Given the description of an element on the screen output the (x, y) to click on. 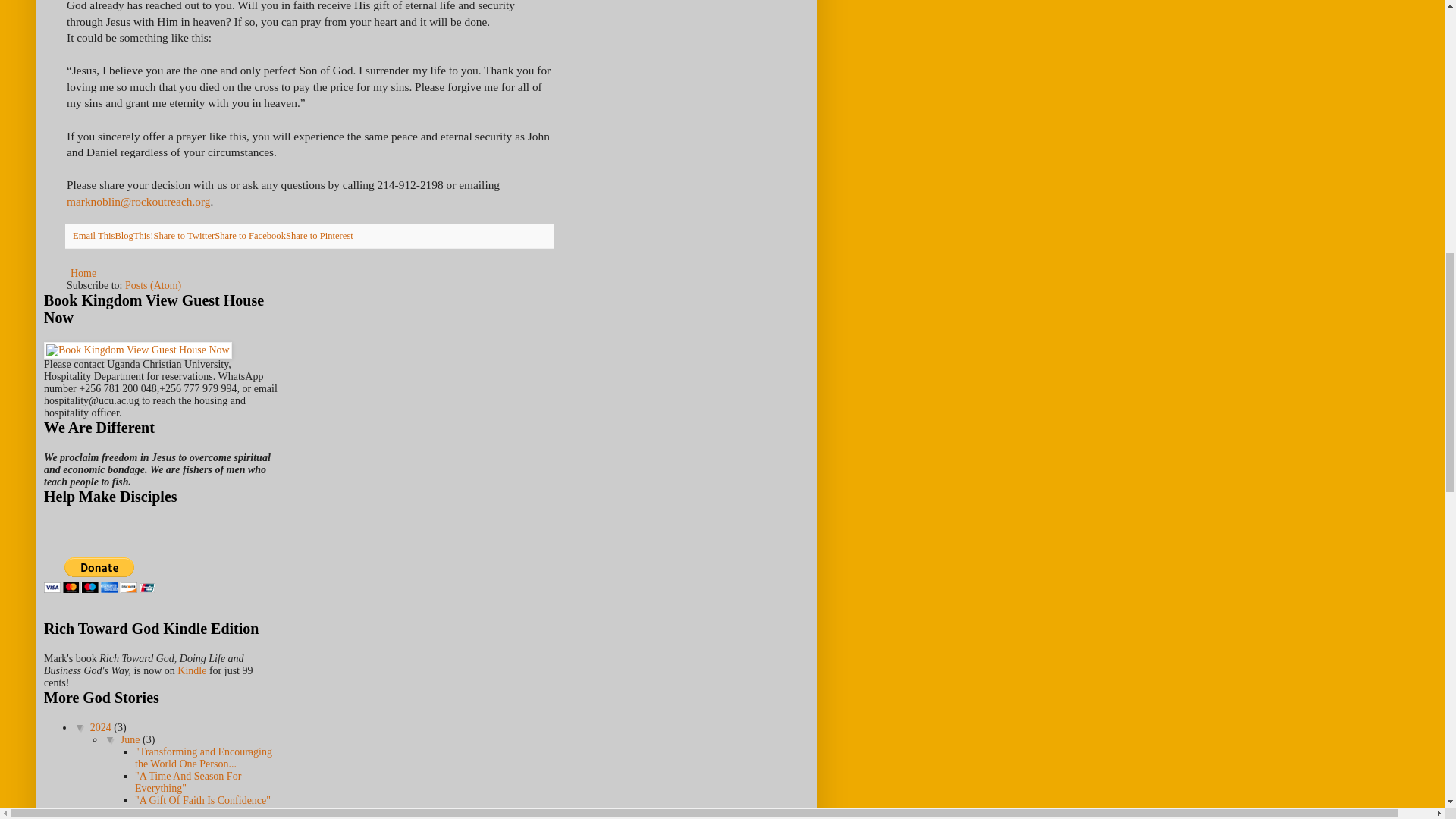
Share to Pinterest (319, 235)
2023 (102, 818)
Email This (93, 235)
Share to Twitter (183, 235)
Share to Facebook (249, 235)
BlogThis! (133, 235)
"A Time And Season For Everything" (188, 781)
Share to Pinterest (319, 235)
2024 (102, 727)
June (131, 739)
